Given the description of an element on the screen output the (x, y) to click on. 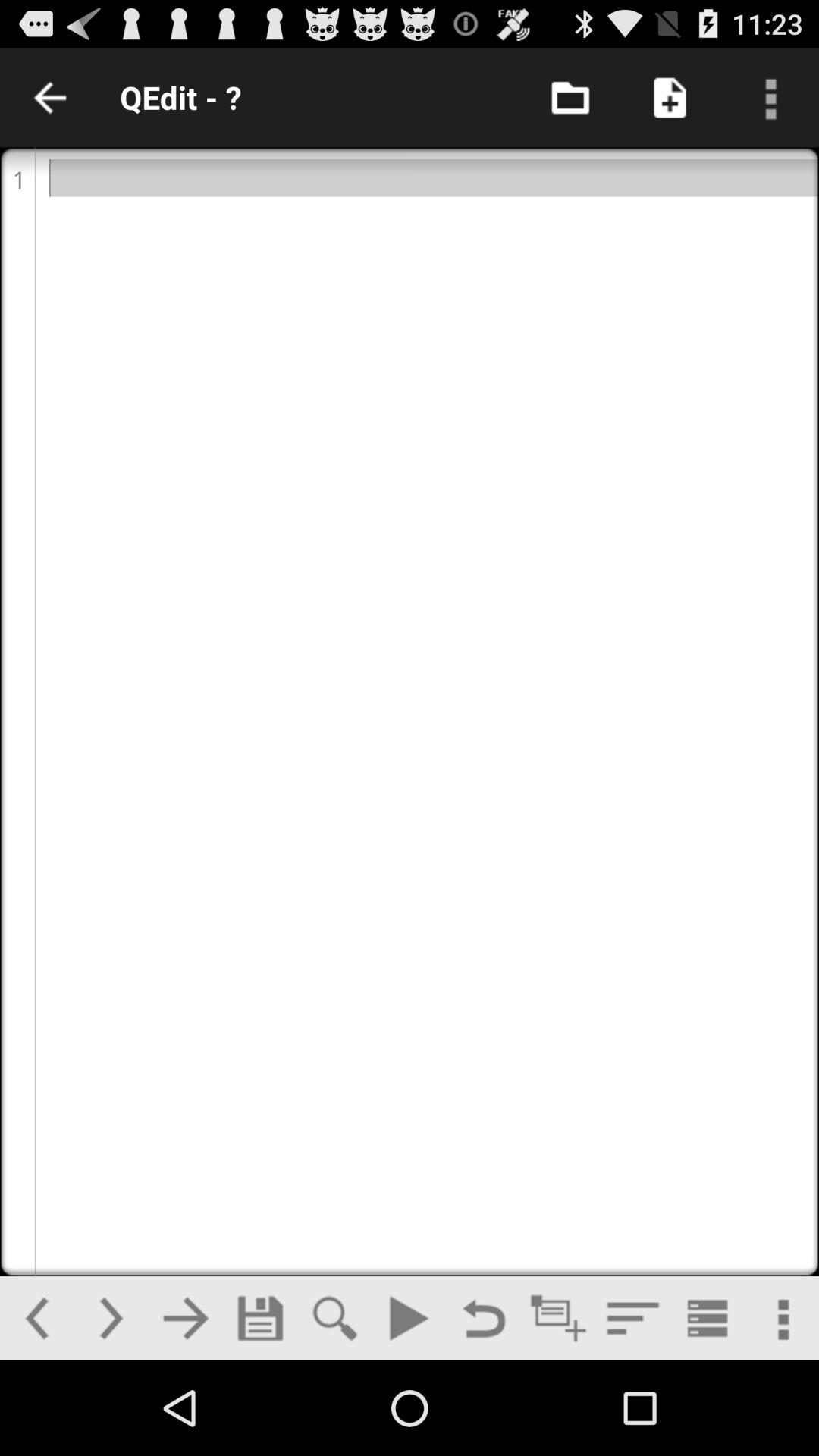
next (185, 1318)
